Given the description of an element on the screen output the (x, y) to click on. 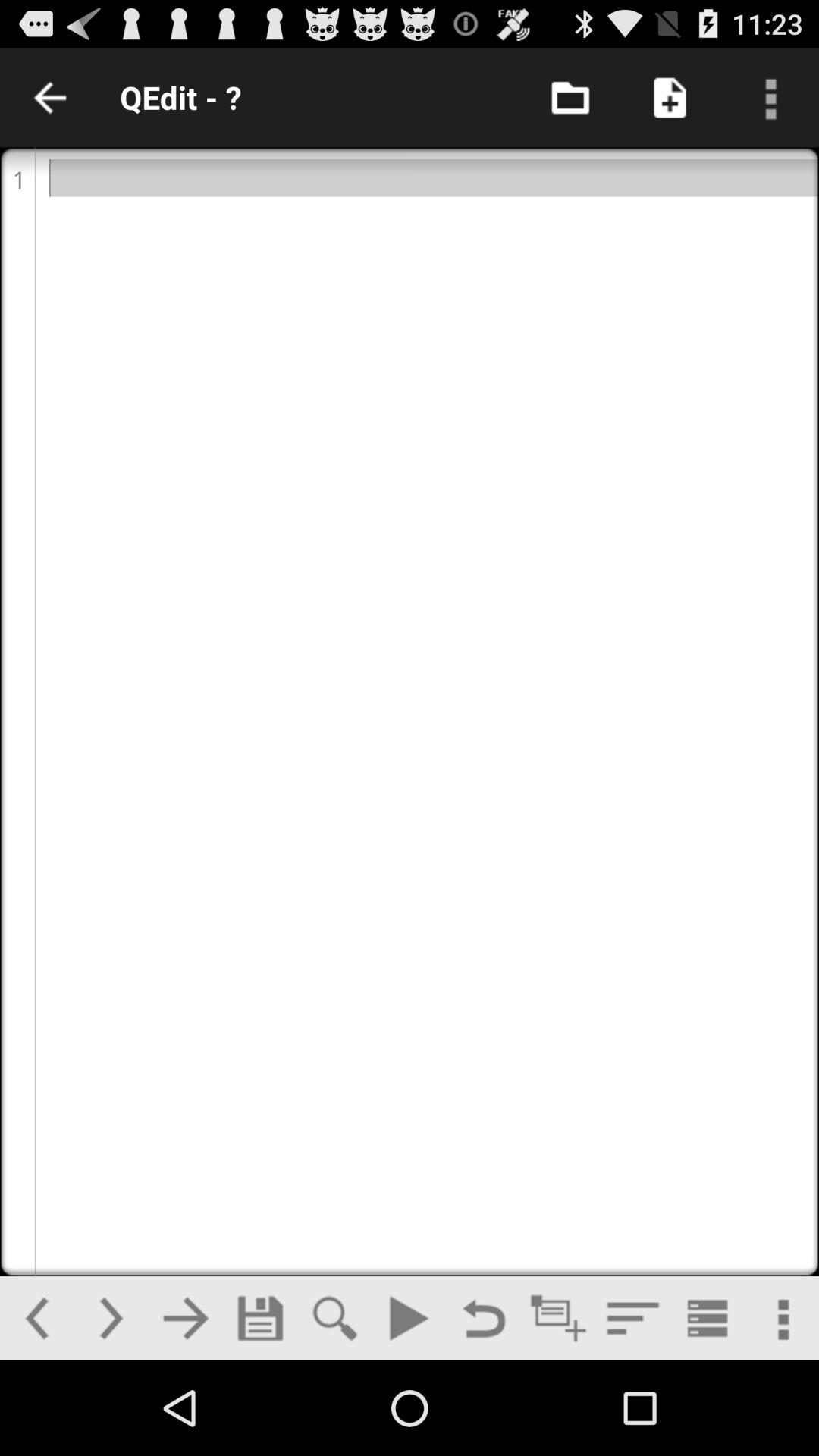
next (185, 1318)
